Given the description of an element on the screen output the (x, y) to click on. 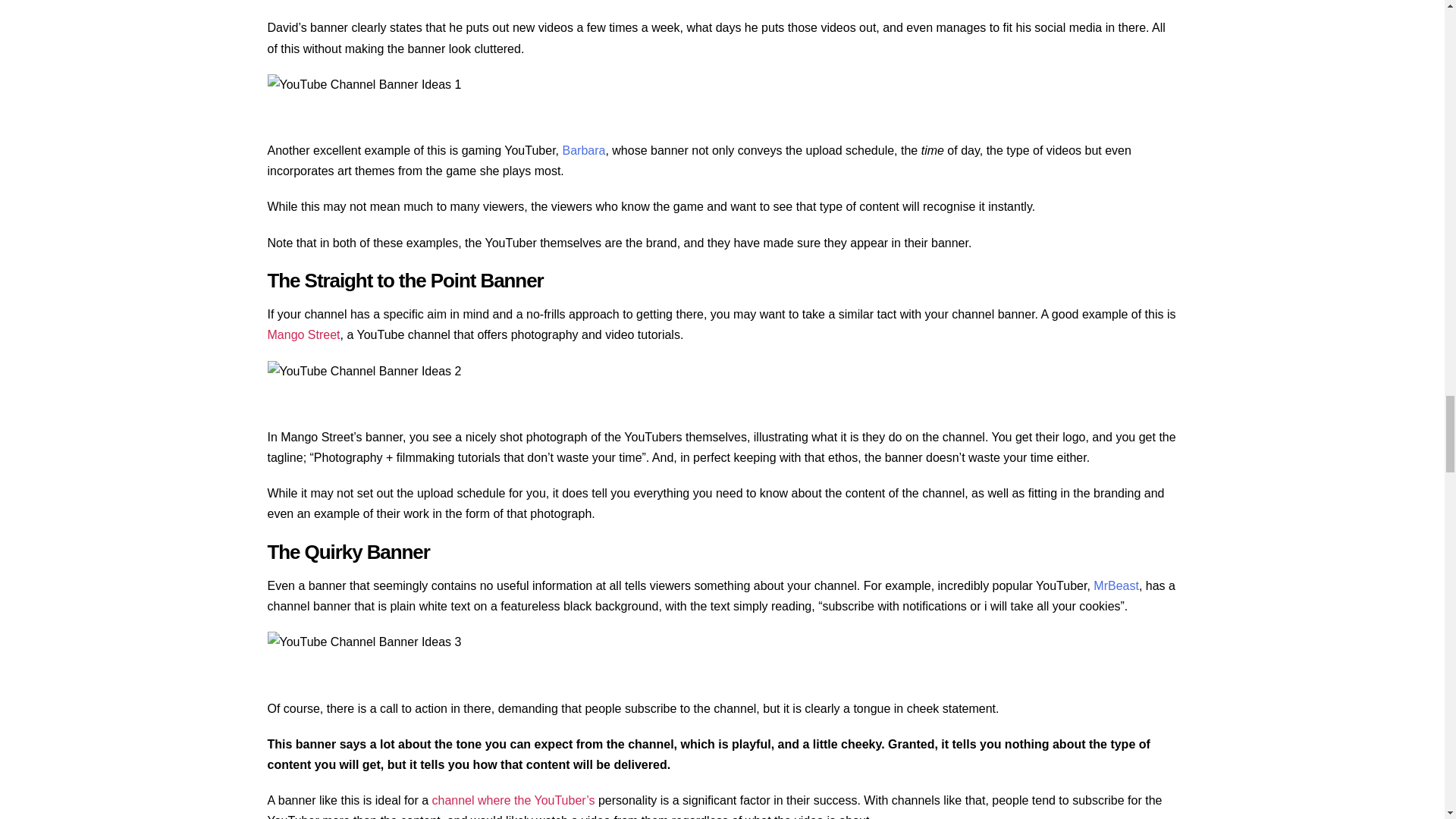
Mango Street (302, 334)
MrBeast (1115, 585)
Barbara (583, 150)
